Given the description of an element on the screen output the (x, y) to click on. 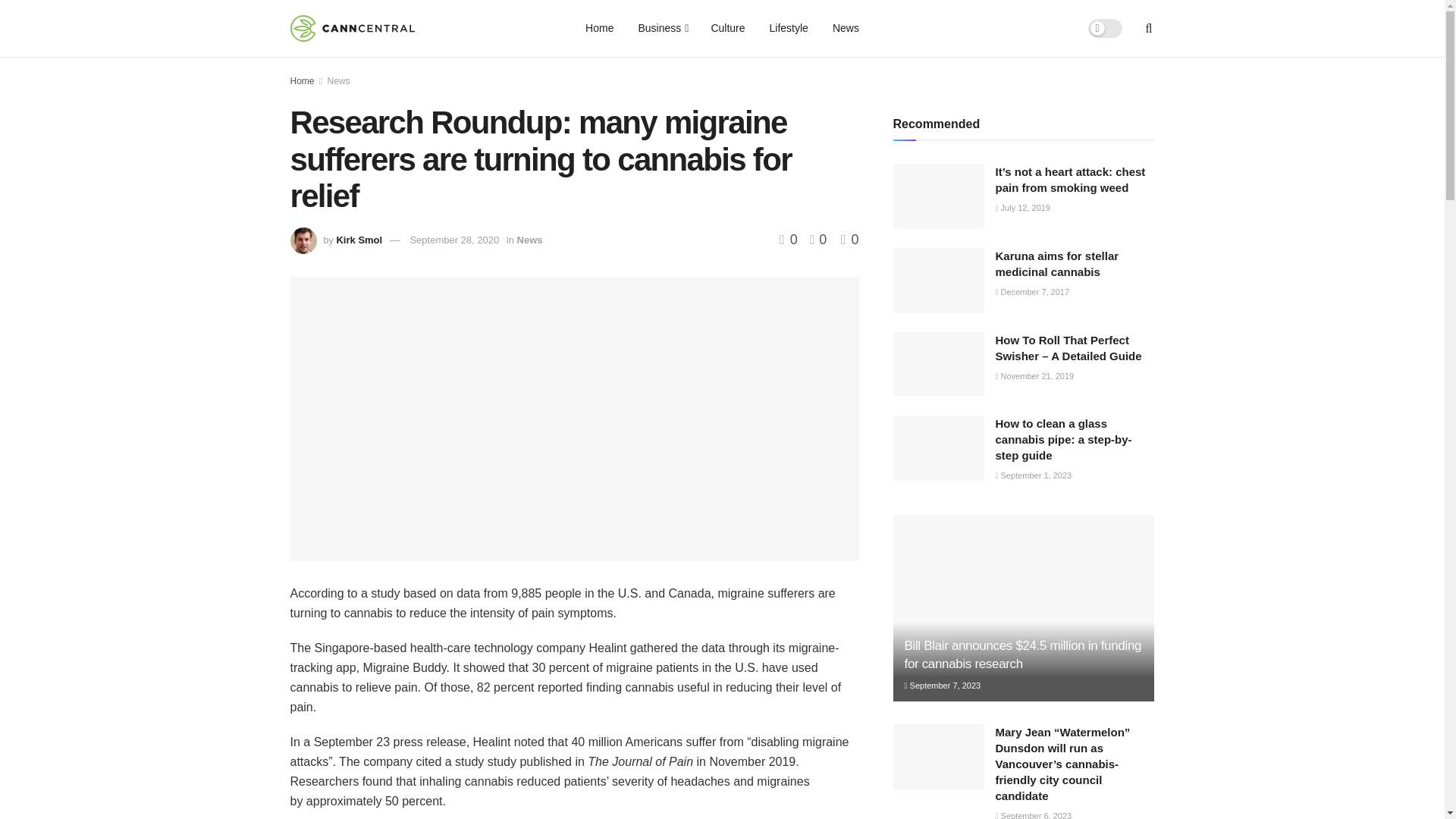
Kirk Smol (358, 239)
September 28, 2020 (454, 239)
Home (301, 81)
News (338, 81)
Culture (727, 28)
Lifestyle (789, 28)
Home (599, 28)
Business (662, 28)
News (845, 28)
